Given the description of an element on the screen output the (x, y) to click on. 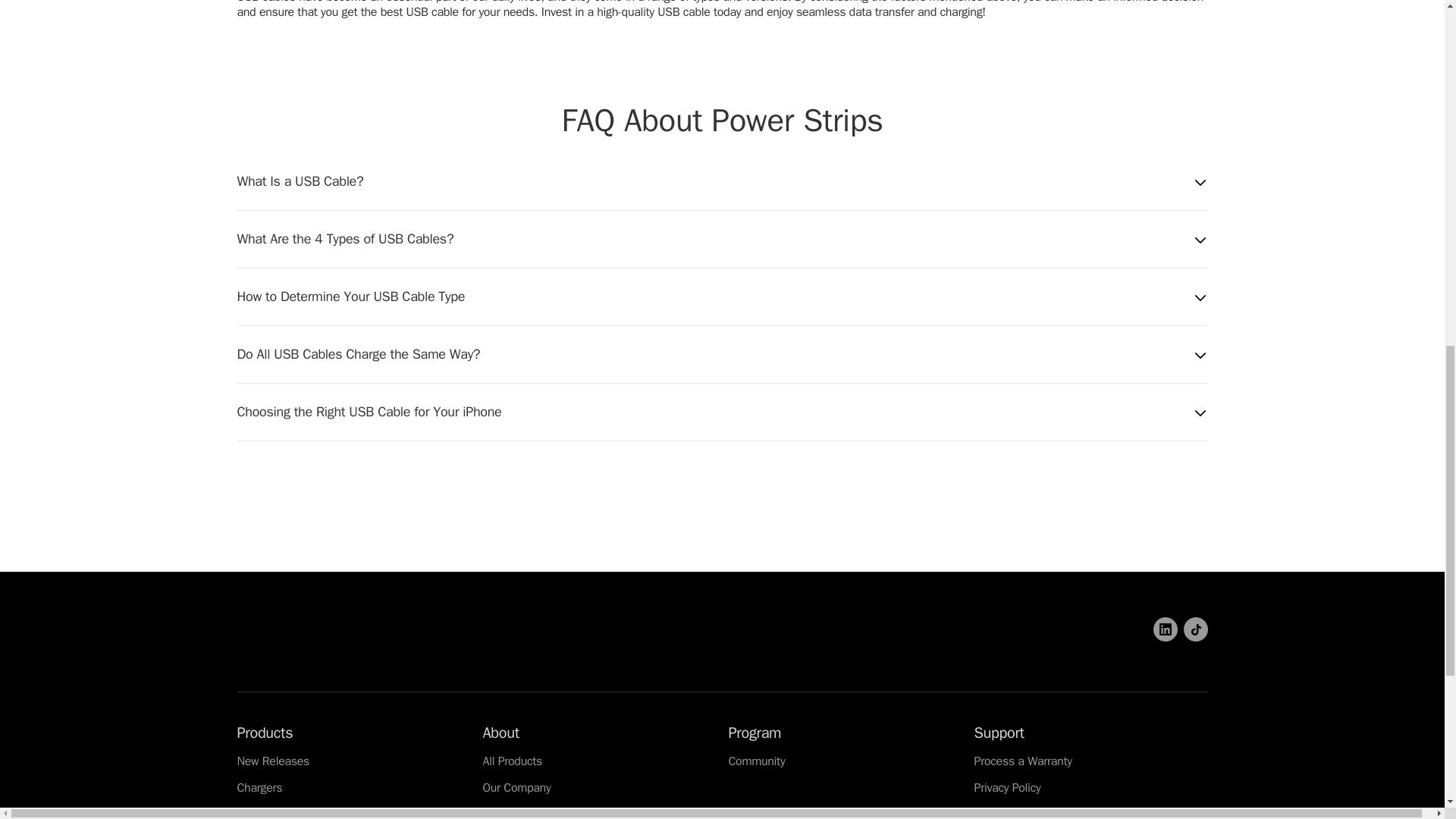
New Releases (271, 761)
Power Banks (268, 812)
Chargers (258, 787)
